Given the description of an element on the screen output the (x, y) to click on. 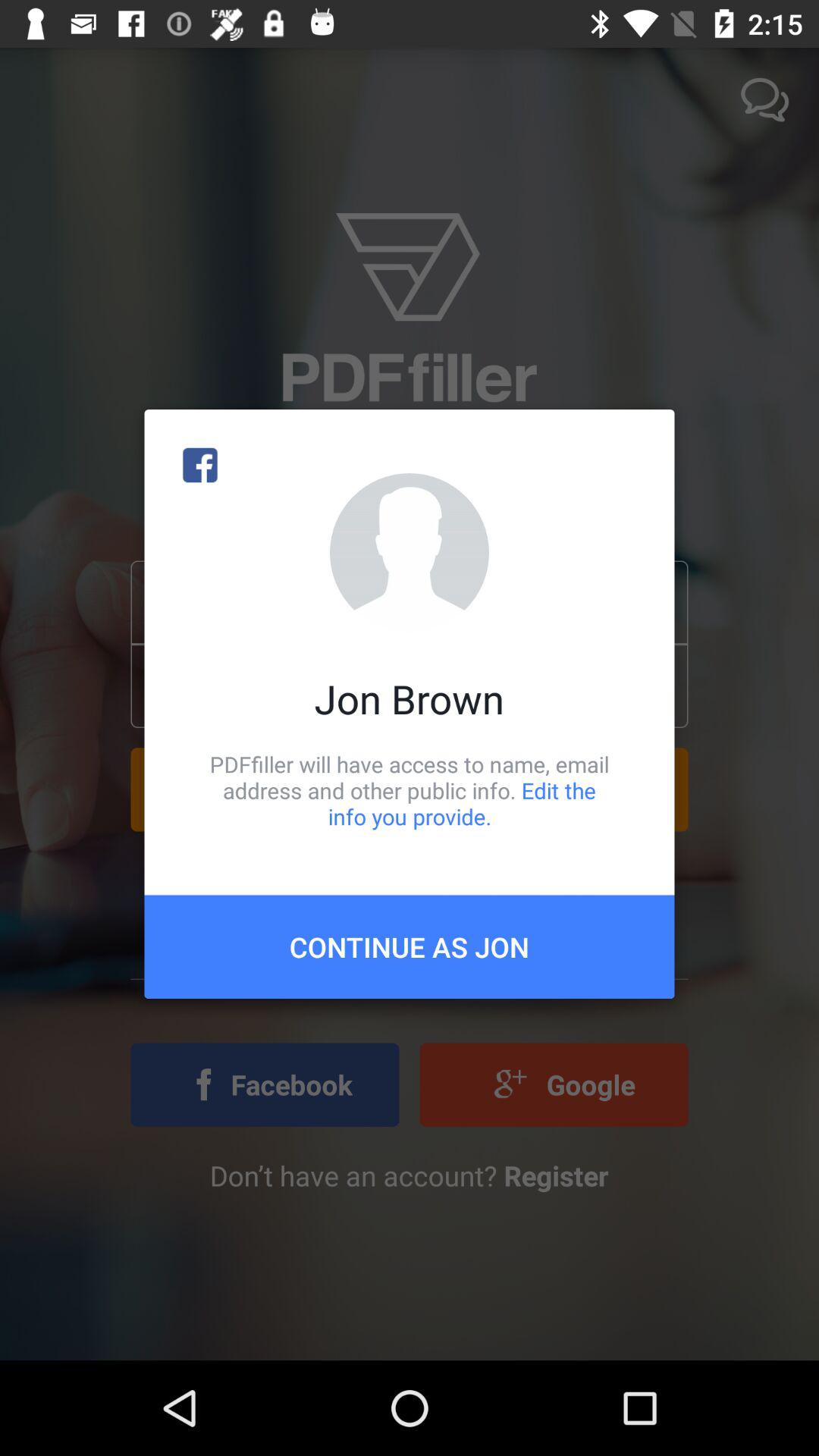
click continue as jon (409, 946)
